Given the description of an element on the screen output the (x, y) to click on. 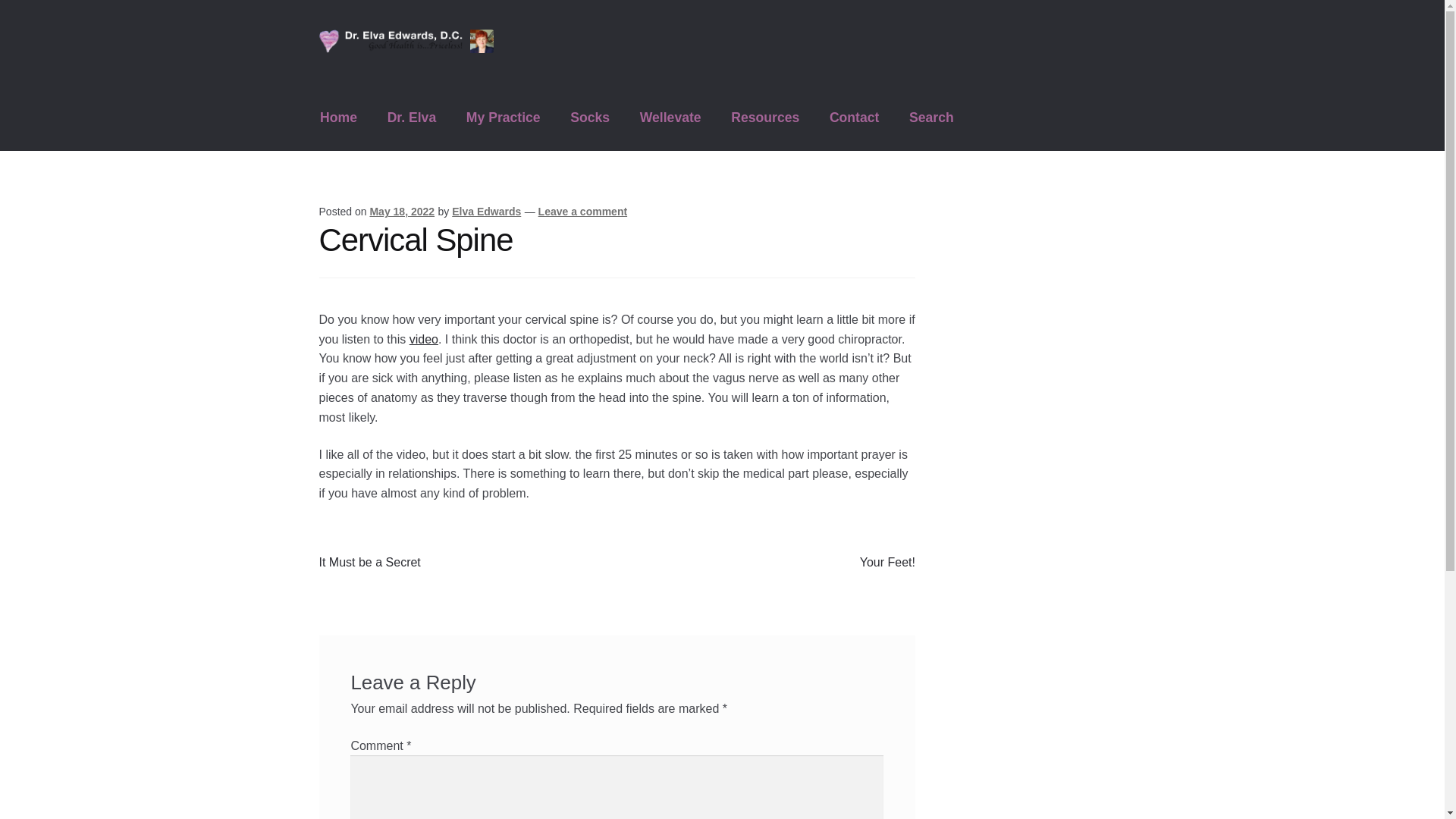
Home (339, 117)
Contact (853, 117)
May 18, 2022 (401, 211)
Elva Edwards (486, 211)
Search (930, 117)
My Practice (502, 117)
Leave a comment (887, 562)
Skip to navigation (369, 562)
